Given the description of an element on the screen output the (x, y) to click on. 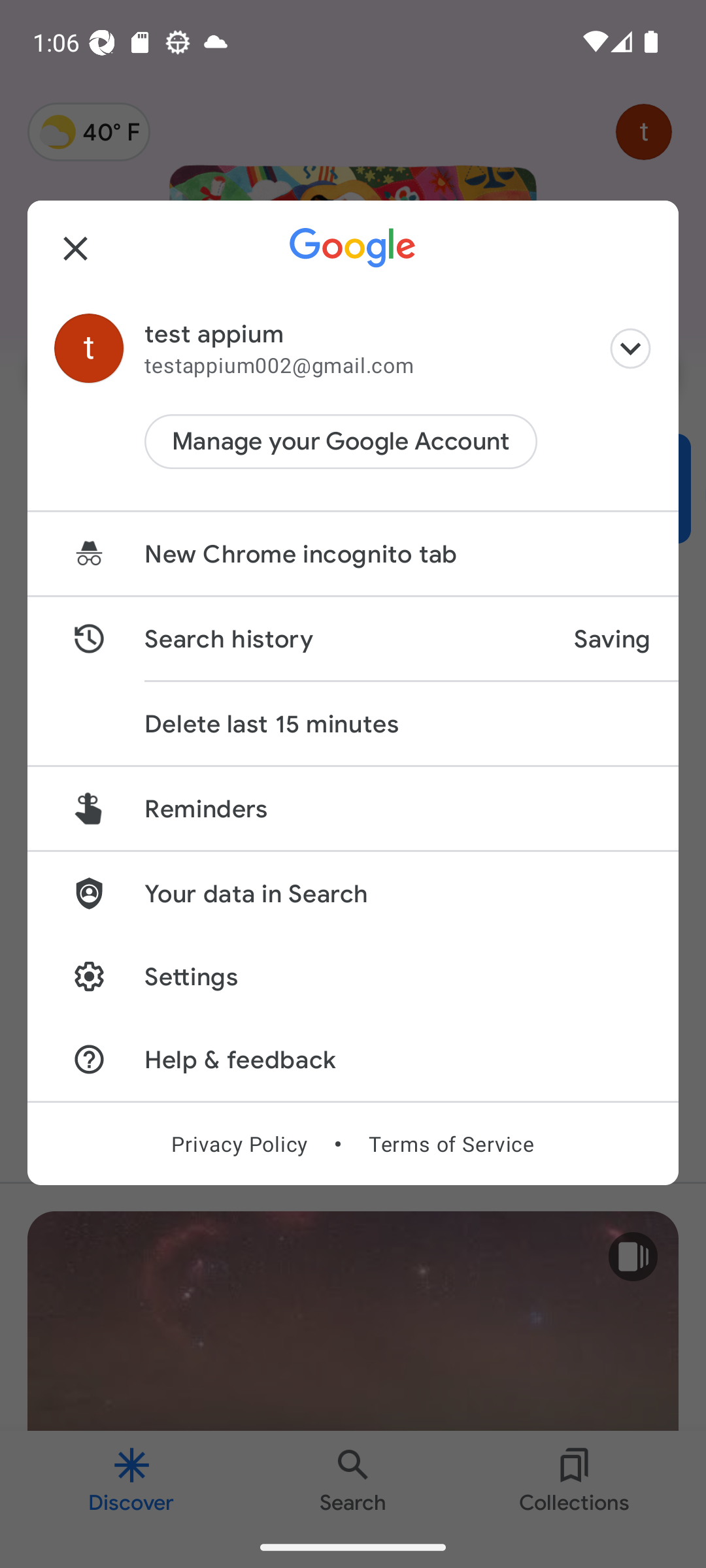
Close (75, 248)
Manage your Google Account (340, 440)
New Chrome incognito tab (353, 553)
Search history Saving (353, 638)
Reminders (353, 807)
Your data in Search (353, 892)
Settings (353, 975)
Help & feedback (353, 1058)
Privacy Policy (239, 1143)
Terms of Service (450, 1143)
